Given the description of an element on the screen output the (x, y) to click on. 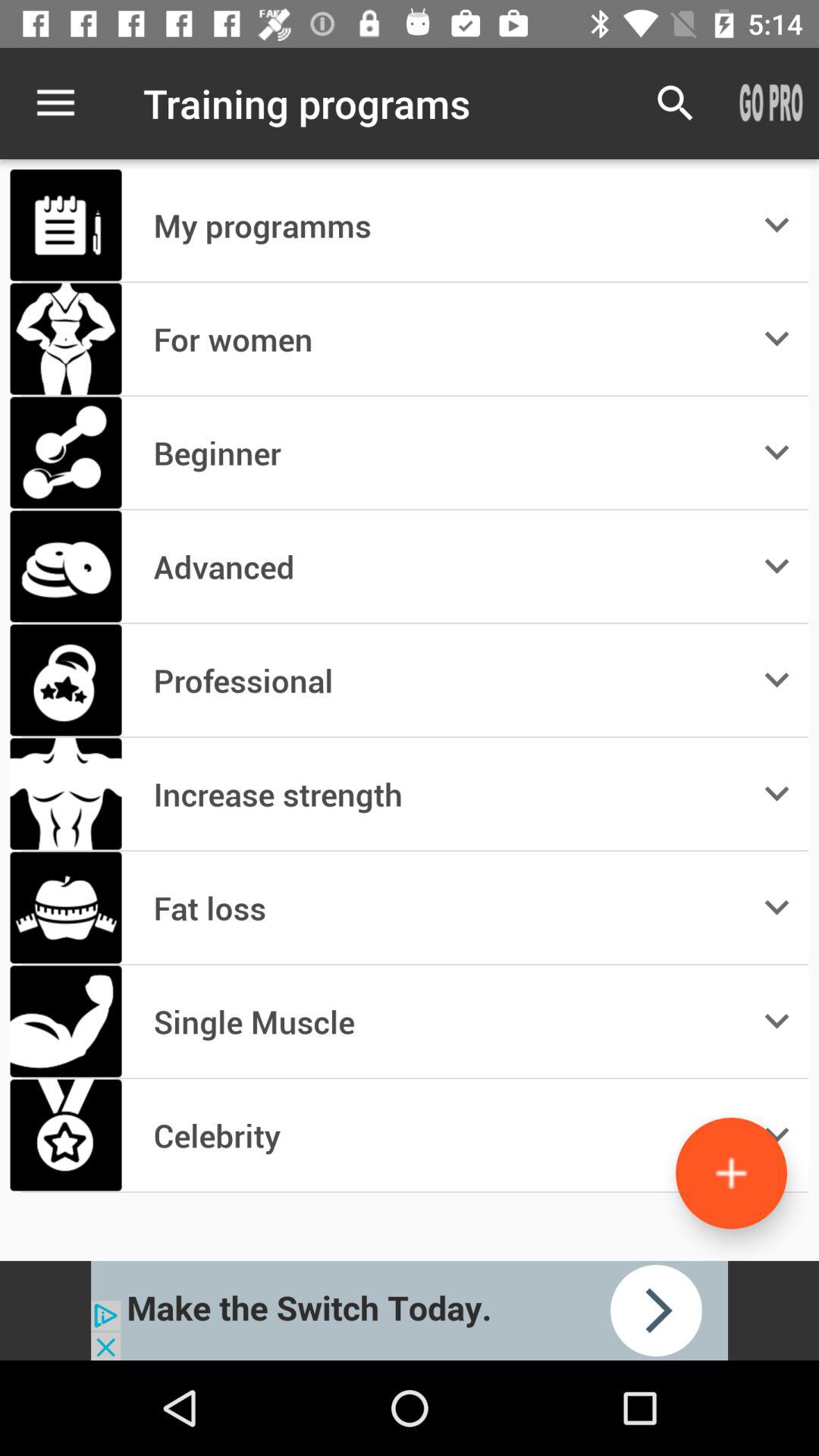
more (731, 1173)
